Given the description of an element on the screen output the (x, y) to click on. 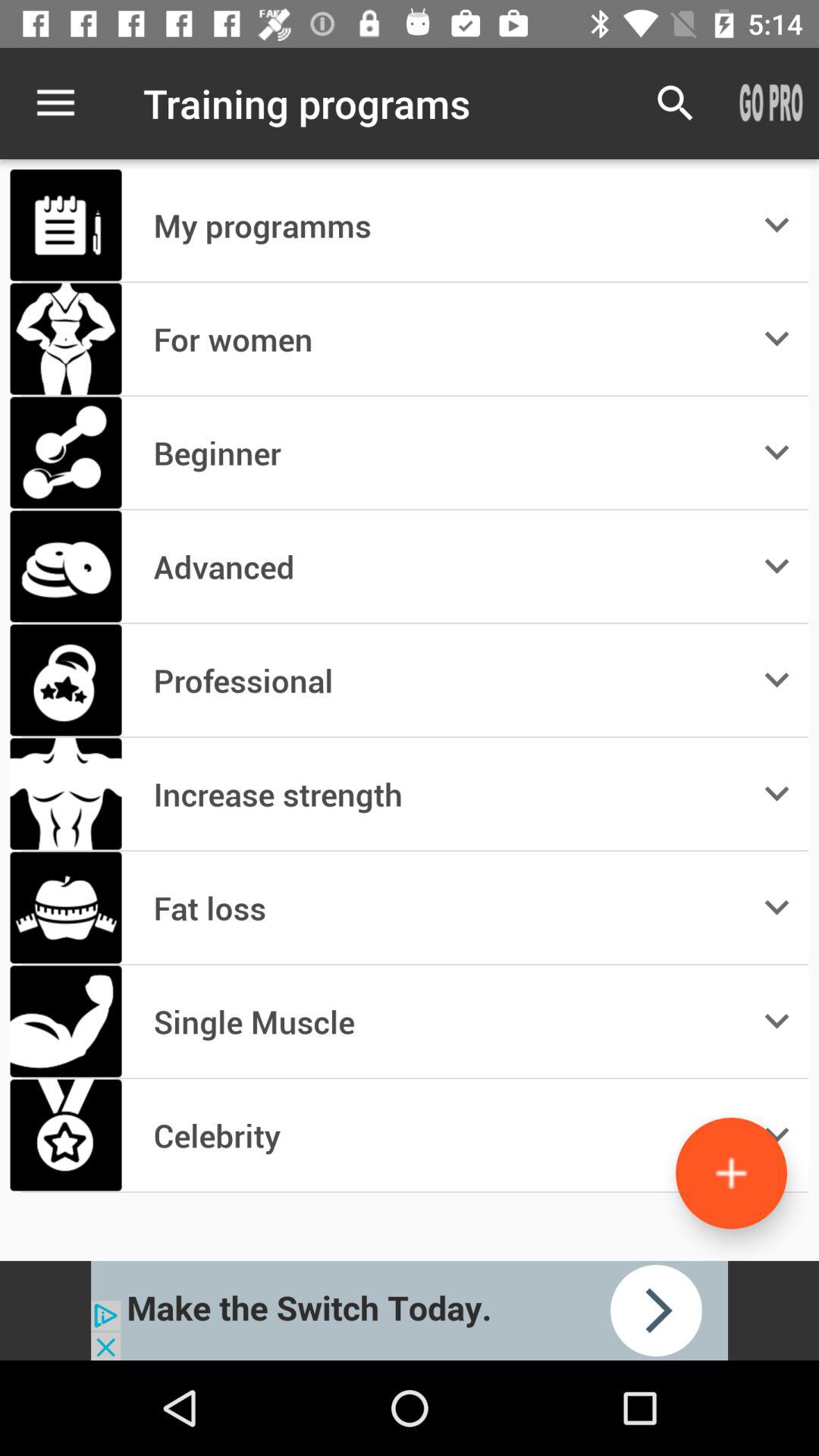
more (731, 1173)
